Given the description of an element on the screen output the (x, y) to click on. 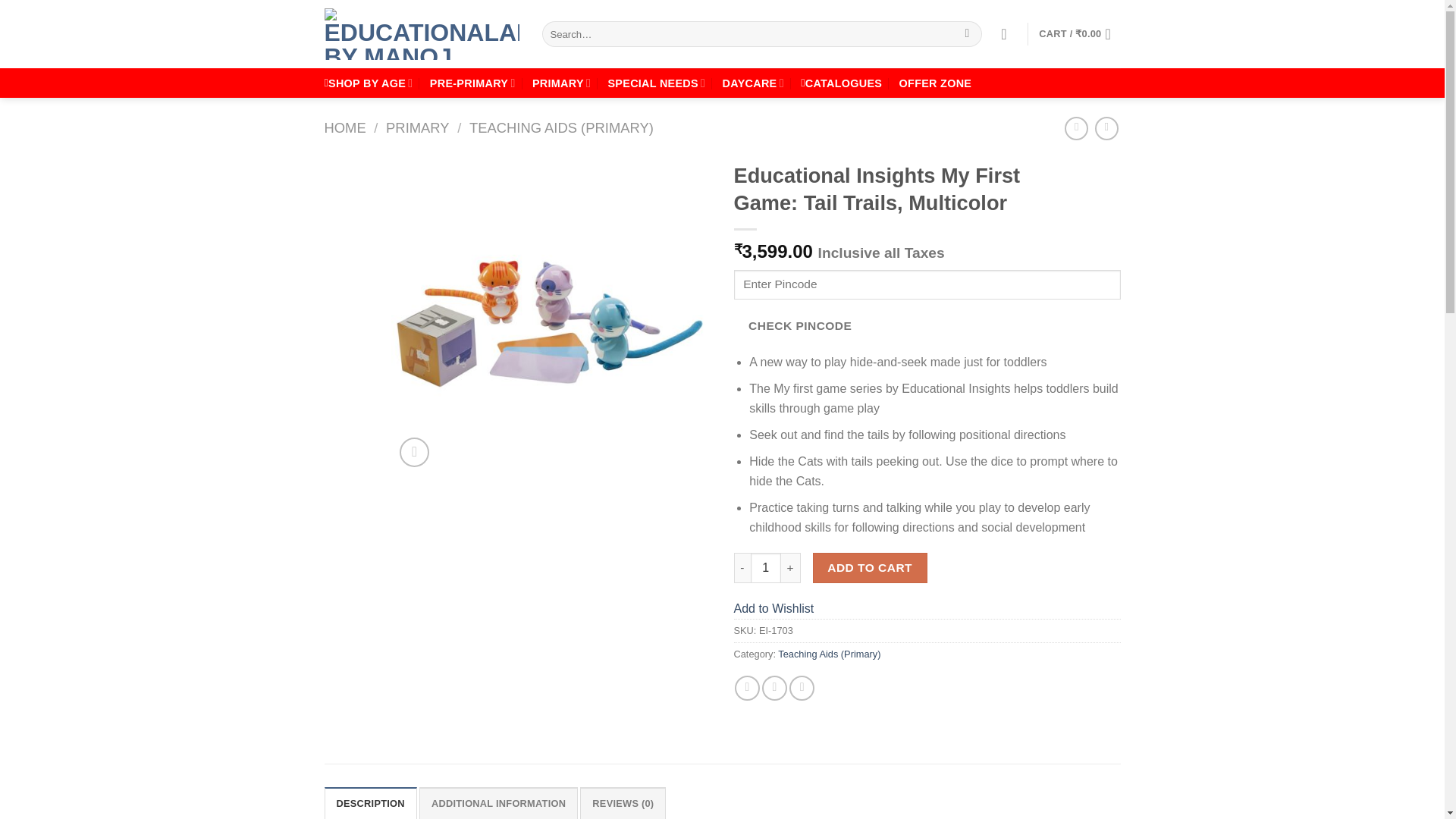
Search (967, 33)
SHOP BY AGE (368, 82)
EducationalAids By Manoj Stores - Complete School Solution (421, 34)
PRE-PRIMARY (472, 82)
Cart (1079, 33)
Email to a Friend (801, 688)
Share on Twitter (774, 688)
Share on Facebook (747, 688)
1 (765, 567)
Zoom (413, 451)
